Given the description of an element on the screen output the (x, y) to click on. 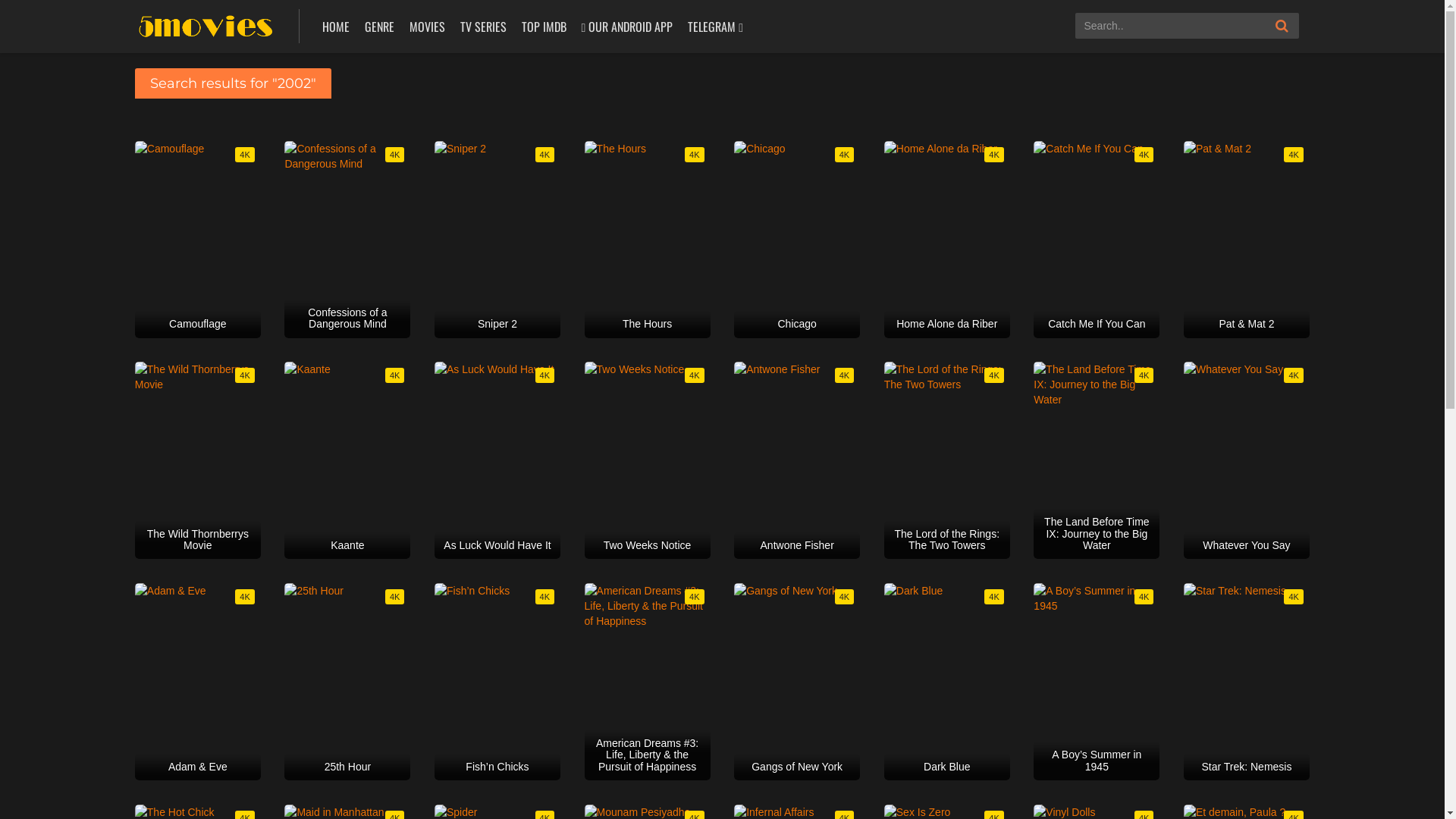
4K
Dark Blue Element type: text (947, 681)
4K
The Wild Thornberrys Movie Element type: text (197, 459)
4K
25th Hour Element type: text (347, 681)
Watch Movies Online Free | 123movies, Soap2day Element type: hover (205, 24)
4K
The Land Before Time IX: Journey to the Big Water Element type: text (1096, 459)
4K
Catch Me If You Can Element type: text (1096, 239)
HOME Element type: text (335, 26)
4K
Whatever You Say Element type: text (1246, 459)
4K
Camouflage Element type: text (197, 239)
4K
As Luck Would Have It Element type: text (497, 459)
4K
Gangs of New York Element type: text (796, 681)
GENRE Element type: text (379, 26)
4K
Two Weeks Notice Element type: text (647, 459)
4K
Confessions of a Dangerous Mind Element type: text (347, 239)
4K
Antwone Fisher Element type: text (796, 459)
4K
The Lord of the Rings: The Two Towers Element type: text (947, 459)
4K
Chicago Element type: text (796, 239)
4K
Pat & Mat 2 Element type: text (1246, 239)
4K
Home Alone da Riber Element type: text (947, 239)
TV SERIES Element type: text (483, 26)
4K
Sniper 2 Element type: text (497, 239)
4K
Kaante Element type: text (347, 459)
4K
Star Trek: Nemesis Element type: text (1246, 681)
MOVIES Element type: text (426, 26)
TOP IMDB Element type: text (543, 26)
4K
The Hours Element type: text (647, 239)
4K
Adam & Eve Element type: text (197, 681)
